Given the description of an element on the screen output the (x, y) to click on. 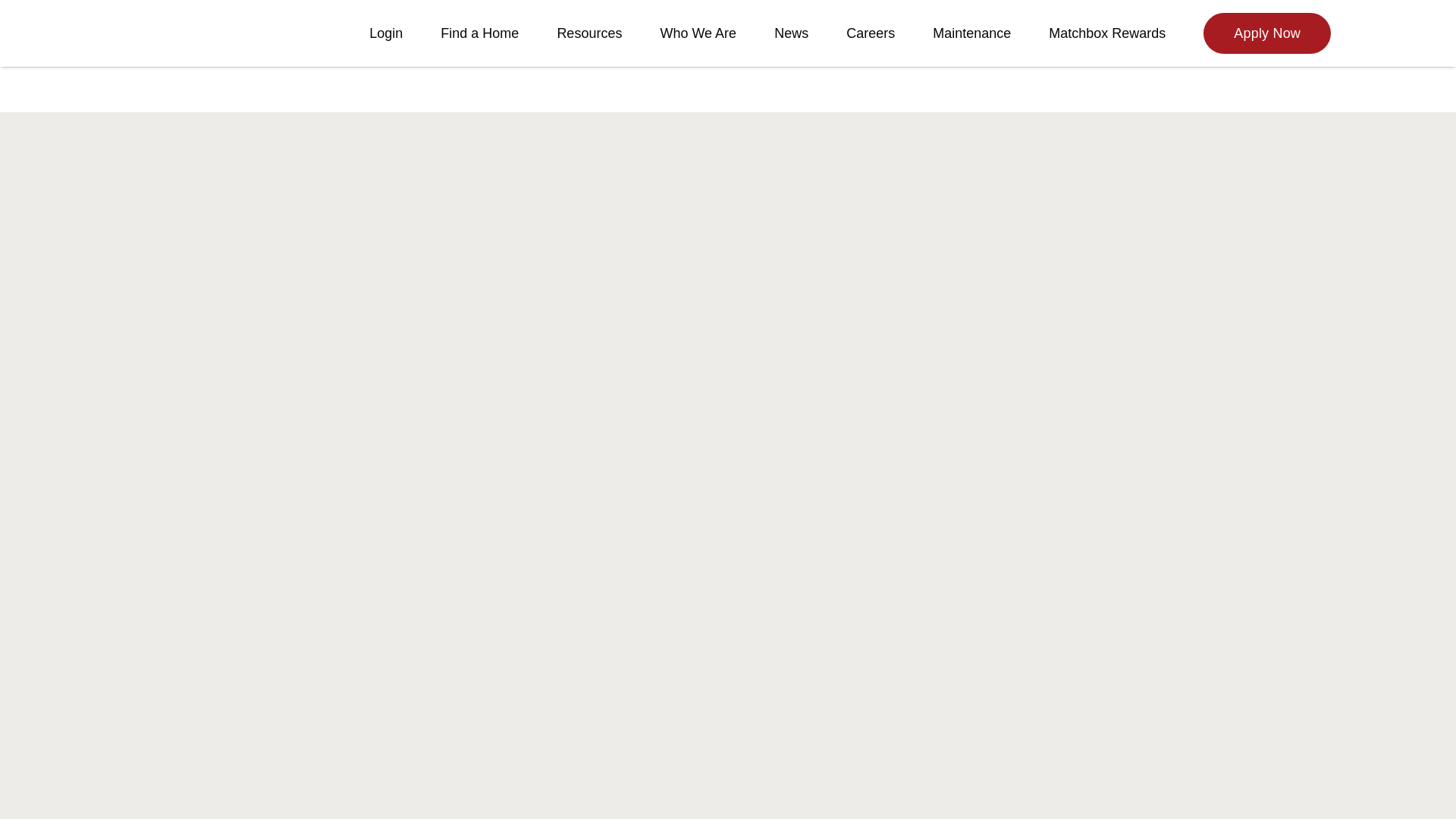
Find a Home (479, 33)
Who We Are (697, 33)
Apply Now (1267, 33)
Careers (870, 33)
Resources (588, 33)
News (791, 33)
Resources (588, 33)
Login (386, 33)
News (791, 33)
Maintenance (971, 33)
